Given the description of an element on the screen output the (x, y) to click on. 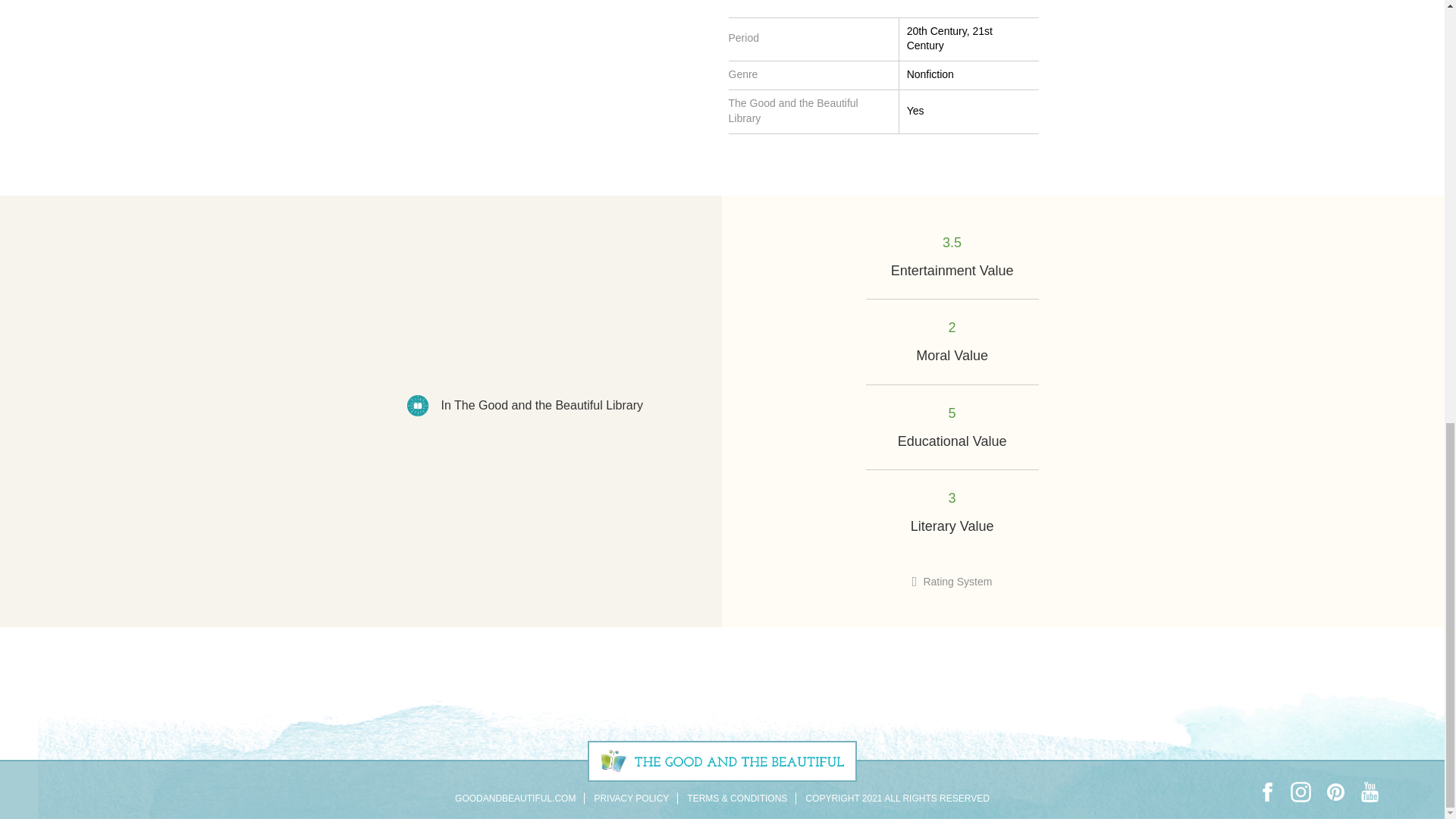
youtube (1369, 792)
pinterest (1334, 792)
instagram (1300, 792)
GOODANDBEAUTIFUL.COM (514, 798)
PRIVACY POLICY (631, 798)
facebook (1266, 791)
